Given the description of an element on the screen output the (x, y) to click on. 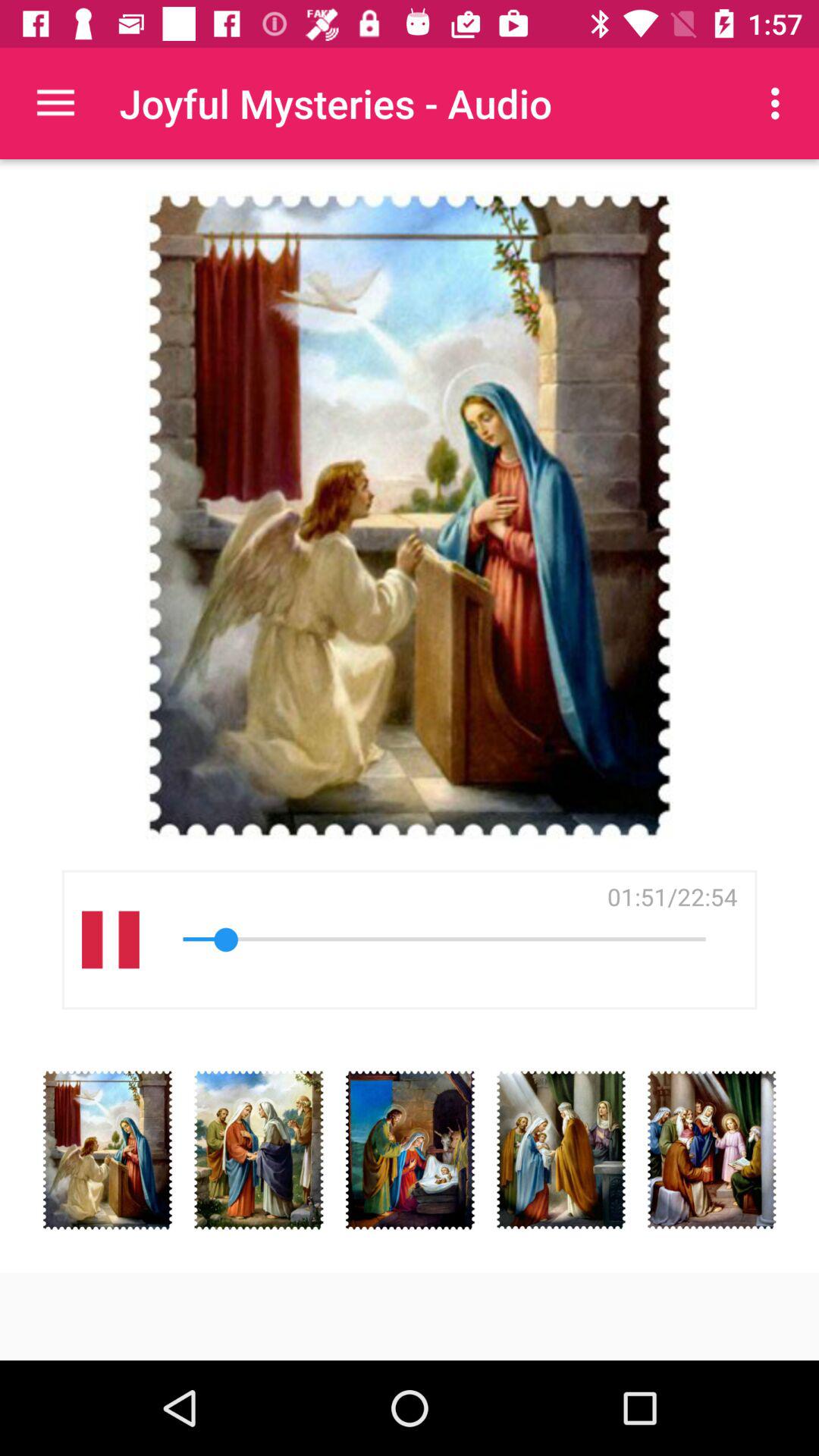
click the 01 52 22 icon (672, 896)
